Given the description of an element on the screen output the (x, y) to click on. 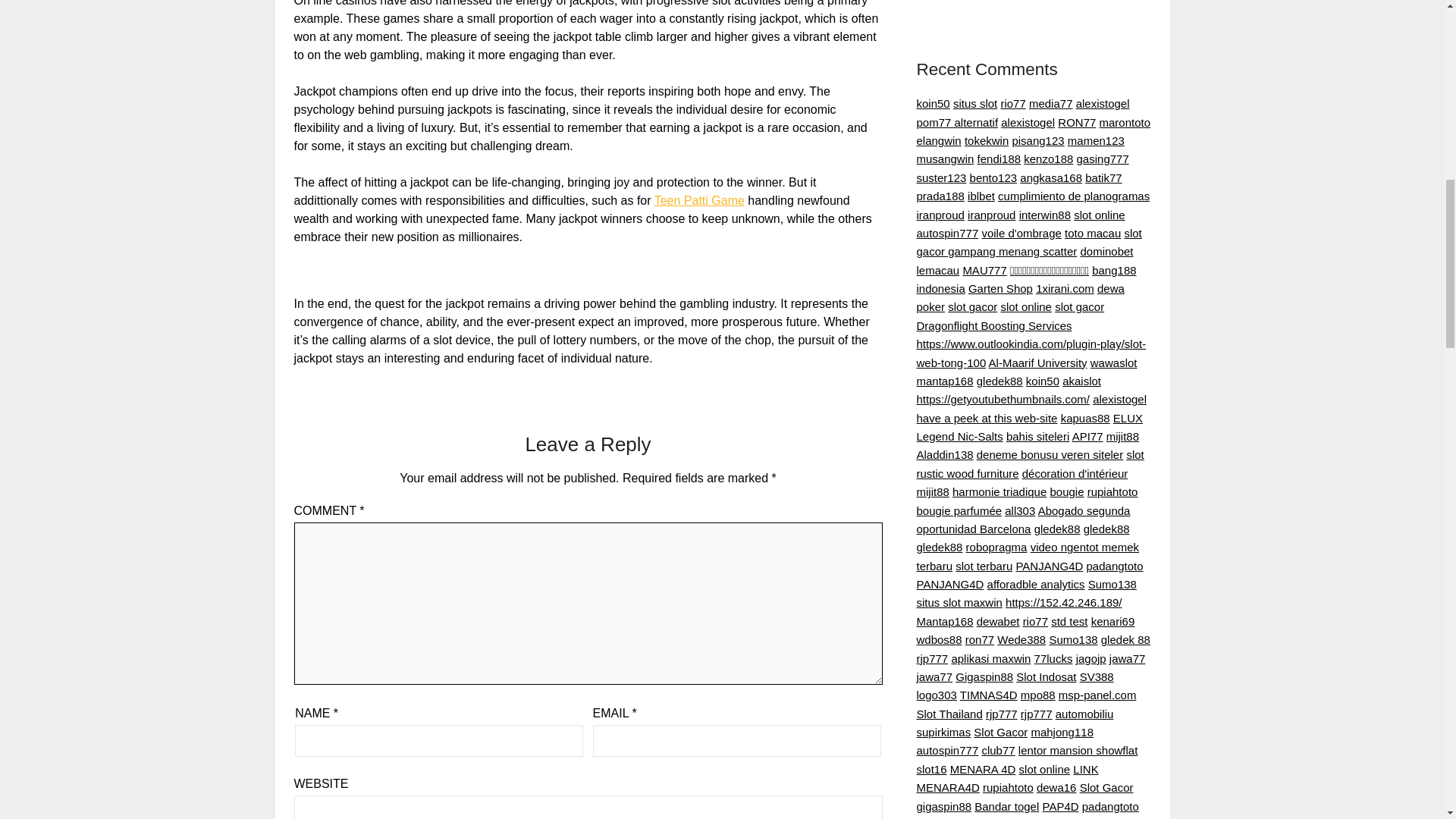
iblbet (981, 195)
pisang123 (1037, 140)
media77 (1051, 103)
fendi188 (999, 158)
prada188 (939, 195)
musangwin (944, 158)
pom77 alternatif (956, 122)
koin50 (932, 103)
Teen Patti Game (698, 200)
kenzo188 (1048, 158)
